Given the description of an element on the screen output the (x, y) to click on. 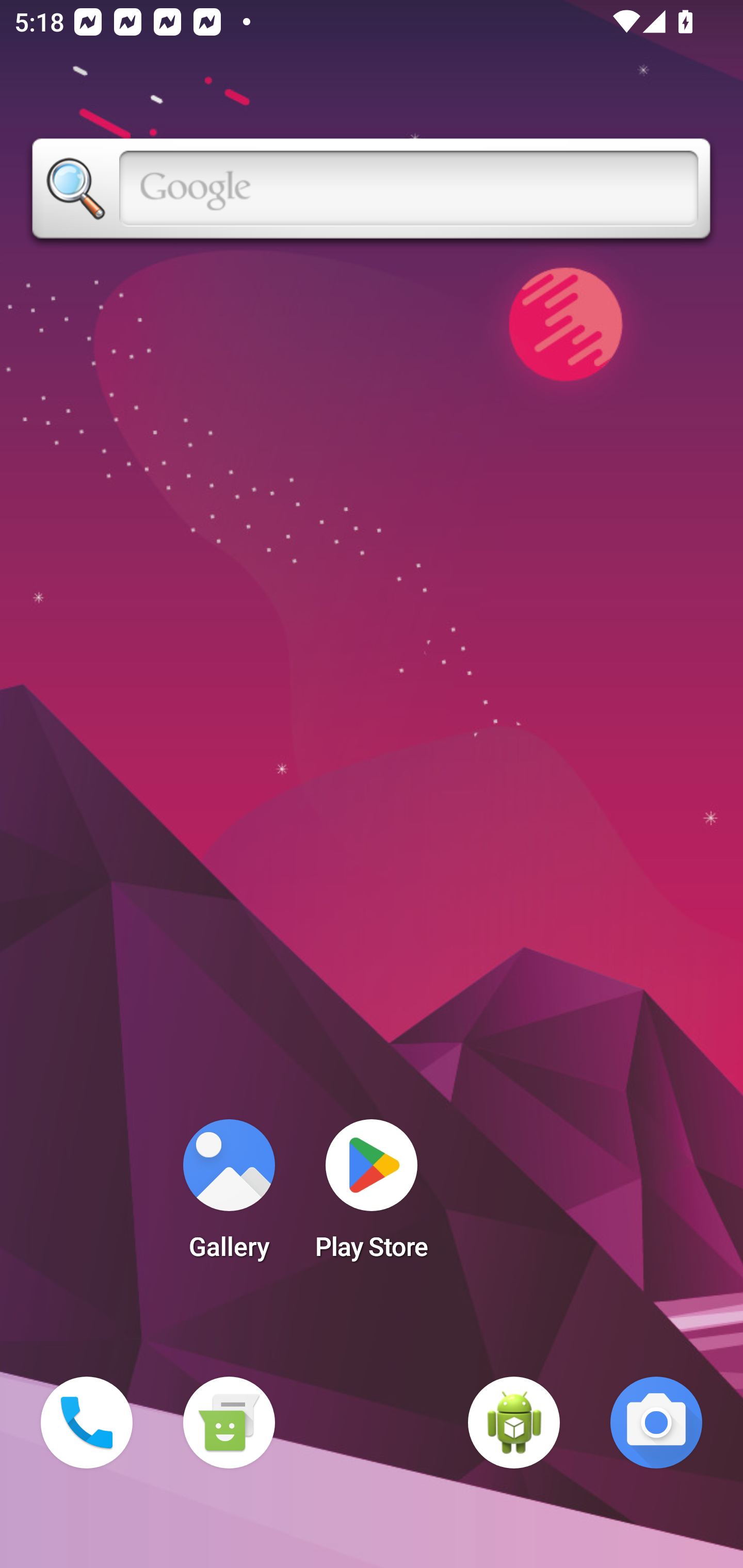
Gallery (228, 1195)
Play Store (371, 1195)
Phone (86, 1422)
Messaging (228, 1422)
WebView Browser Tester (513, 1422)
Camera (656, 1422)
